Given the description of an element on the screen output the (x, y) to click on. 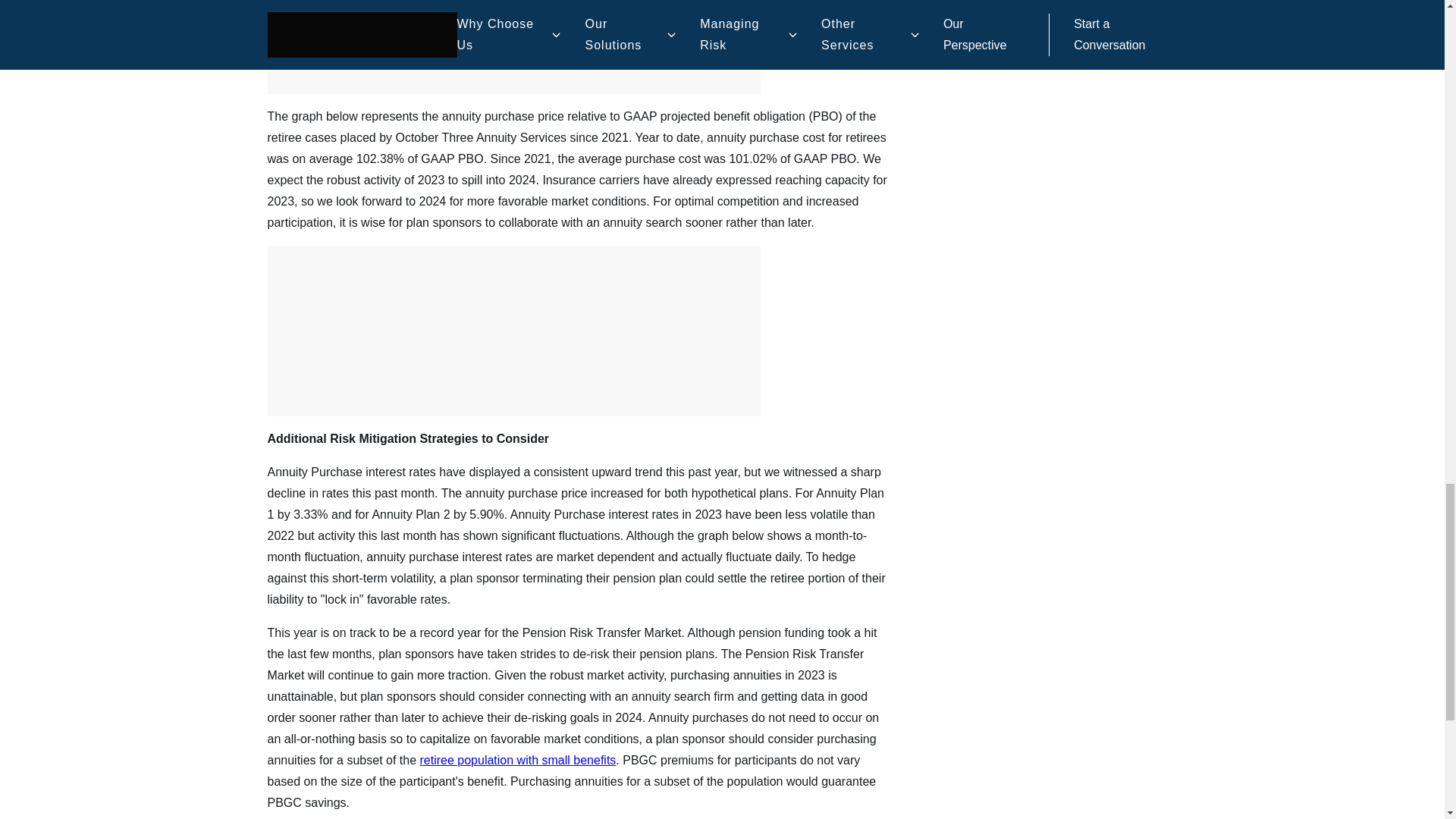
retiree population with small benefits (517, 759)
